Given the description of an element on the screen output the (x, y) to click on. 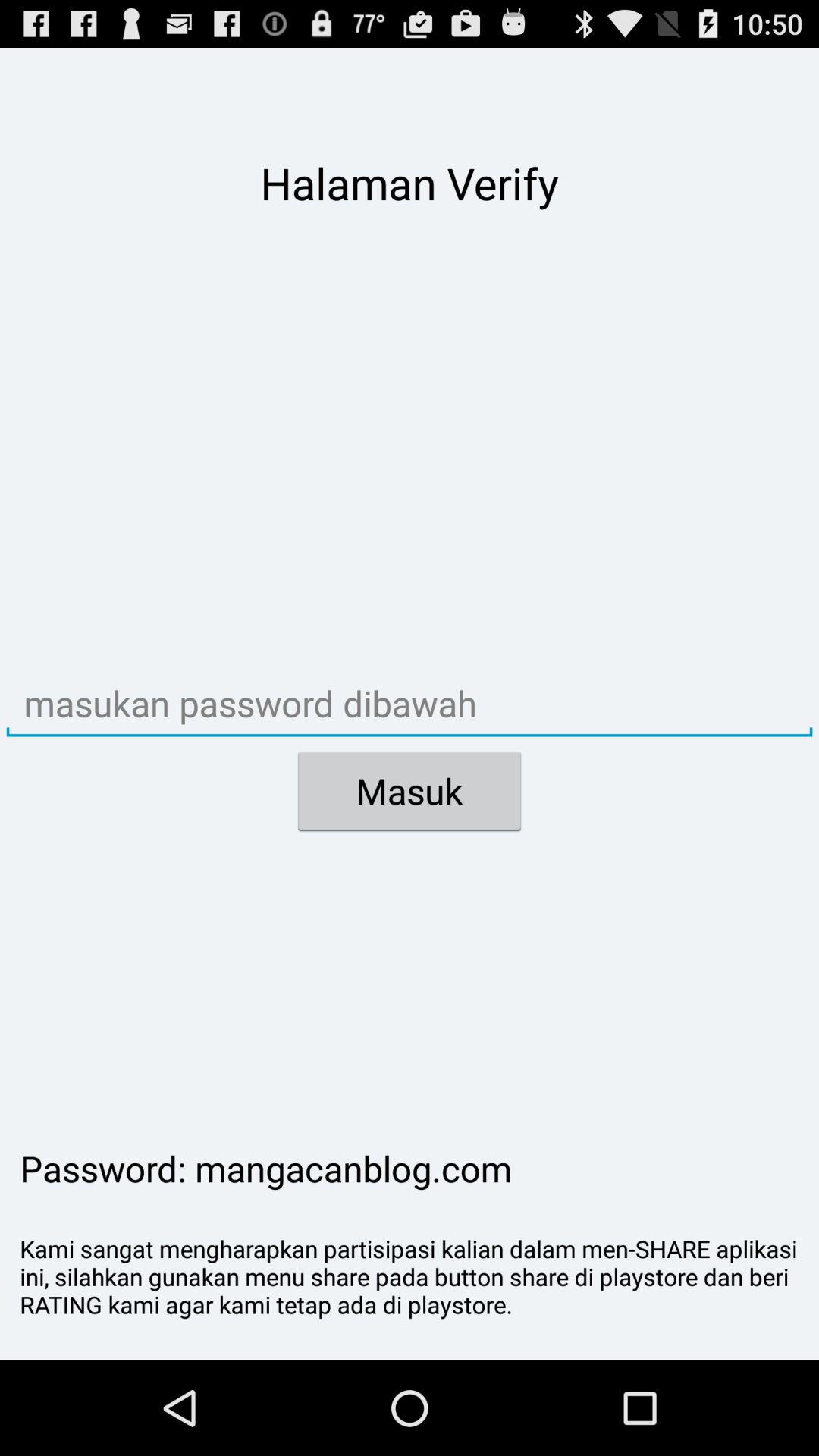
select masuk button (409, 790)
